Given the description of an element on the screen output the (x, y) to click on. 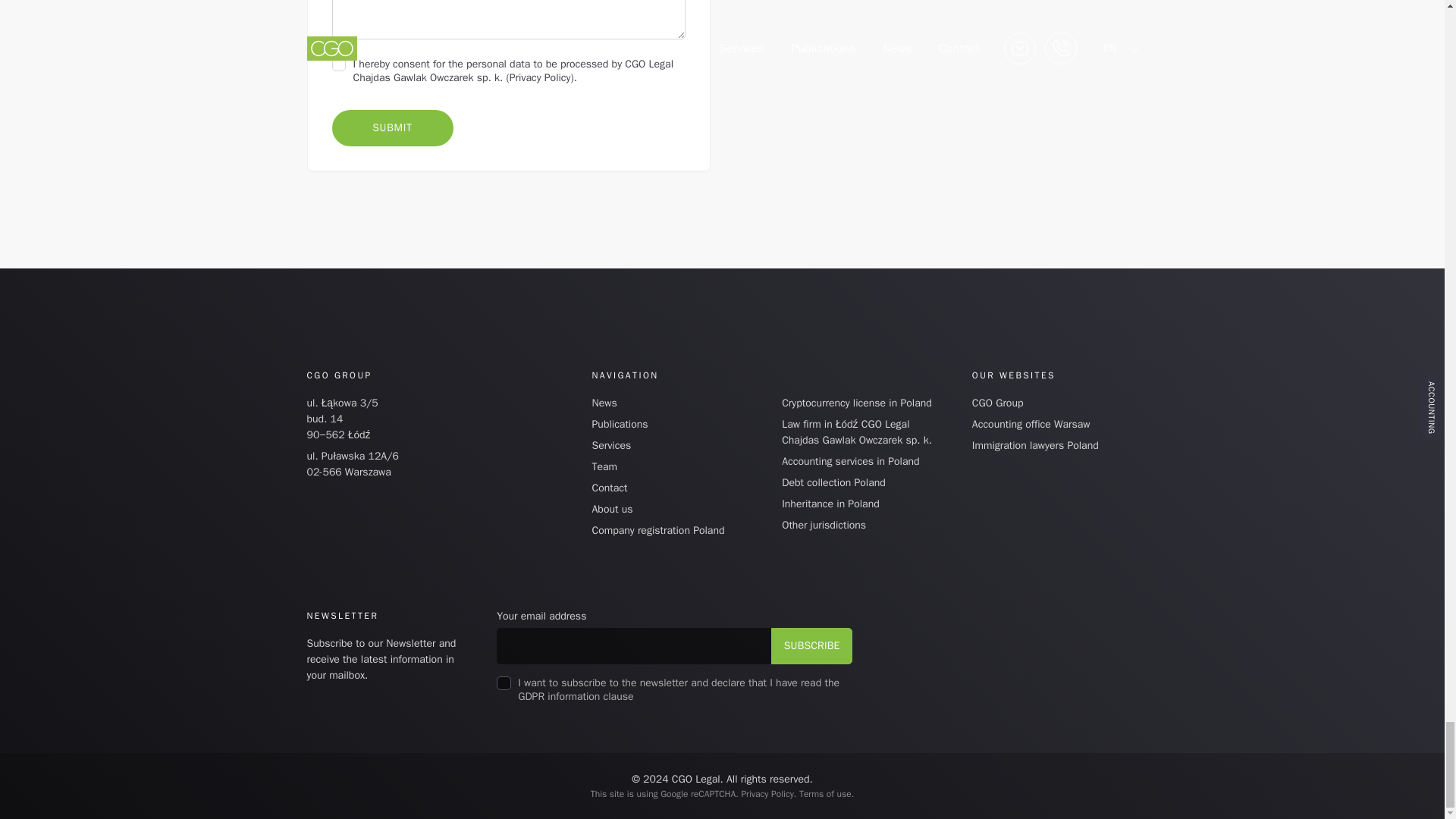
Submit (391, 127)
Subscribe (812, 646)
